Given the description of an element on the screen output the (x, y) to click on. 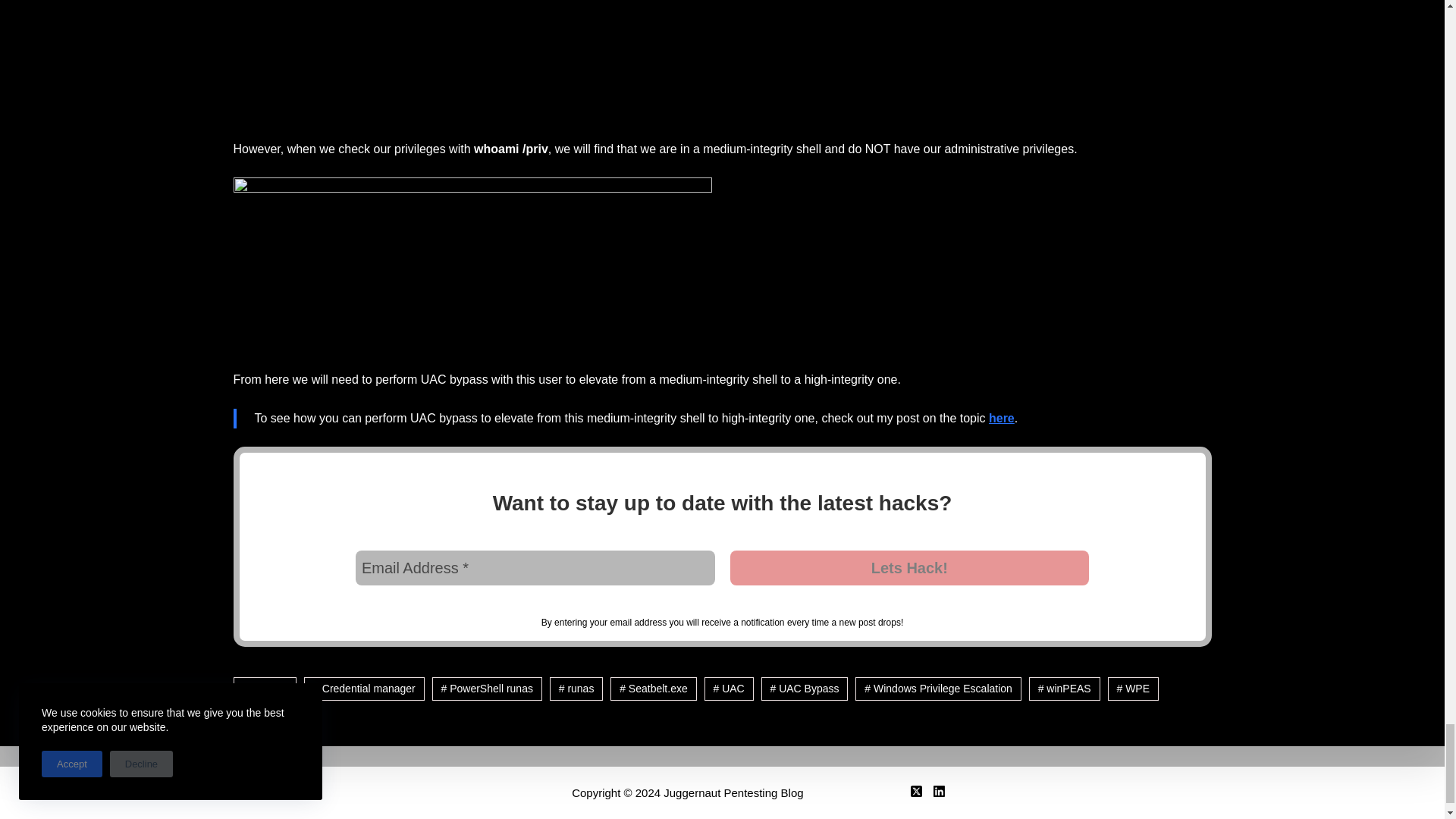
Lets Hack! (909, 567)
